Given the description of an element on the screen output the (x, y) to click on. 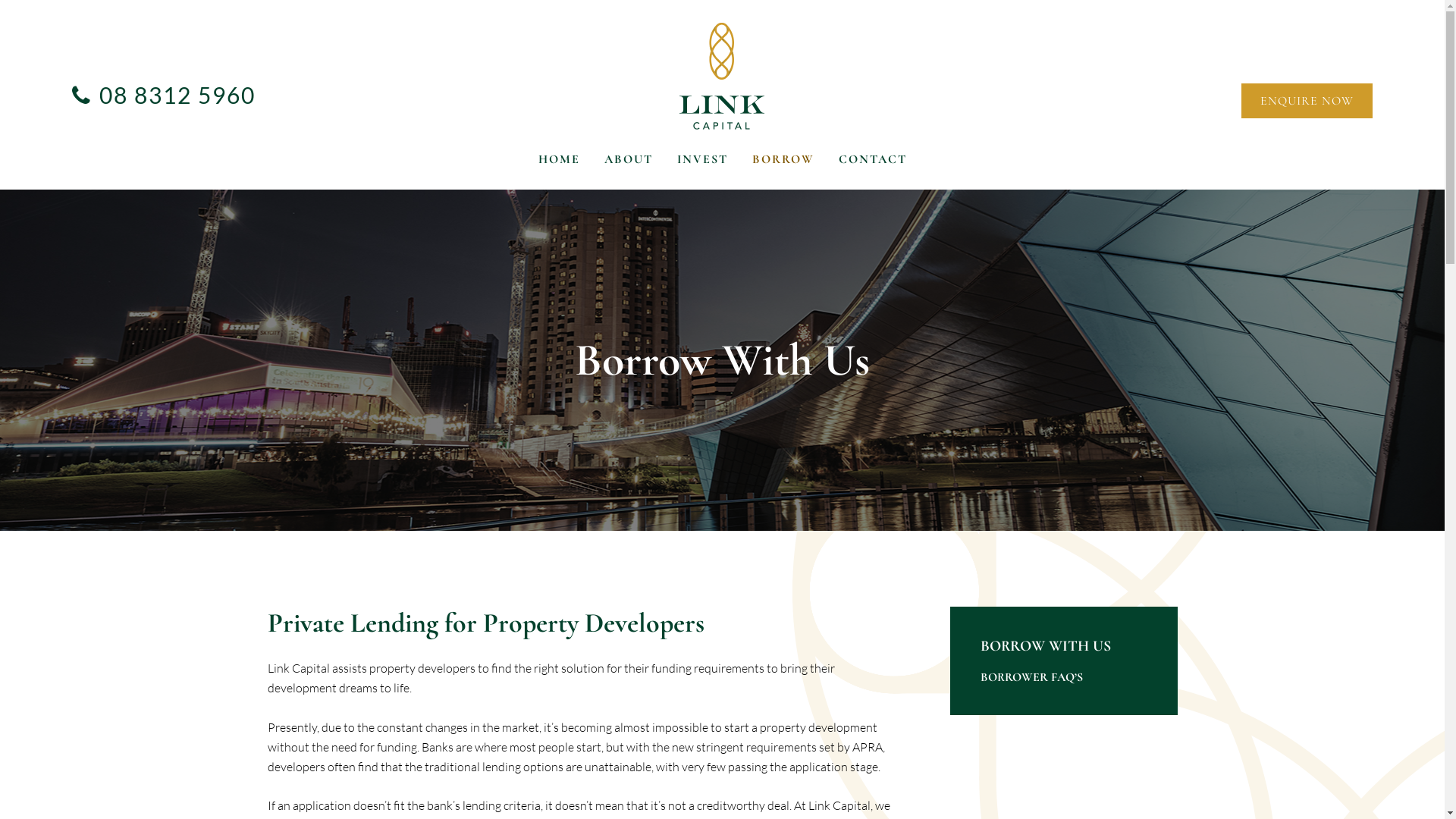
08 8312 5960 Element type: text (177, 94)
ABOUT Element type: text (628, 170)
HOME Element type: text (558, 170)
ENQUIRE NOW Element type: text (1306, 100)
CONTACT Element type: text (872, 170)
BORROW Element type: text (782, 170)
INVEST Element type: text (702, 170)
